Given the description of an element on the screen output the (x, y) to click on. 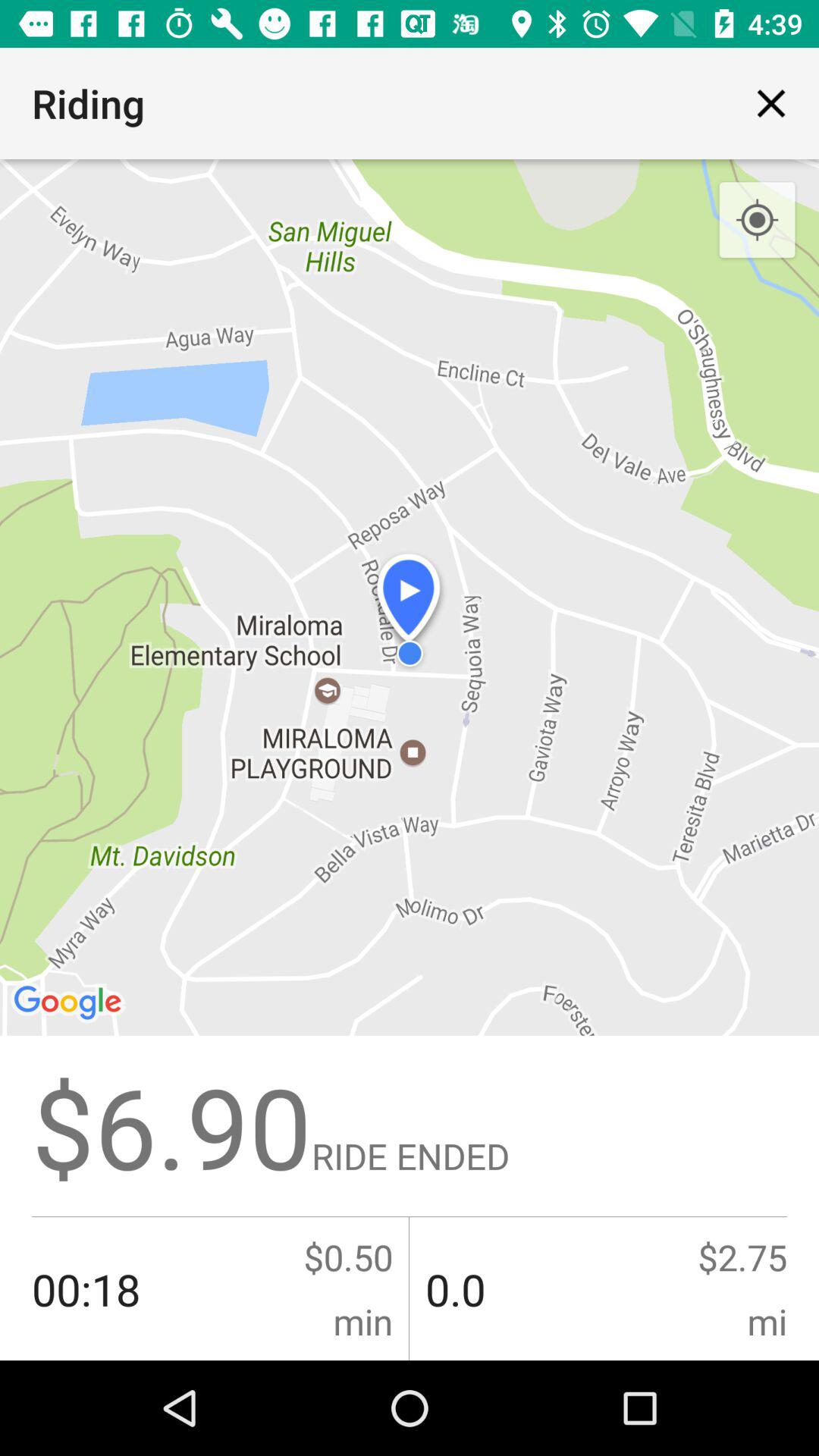
launch icon next to the riding item (771, 103)
